Given the description of an element on the screen output the (x, y) to click on. 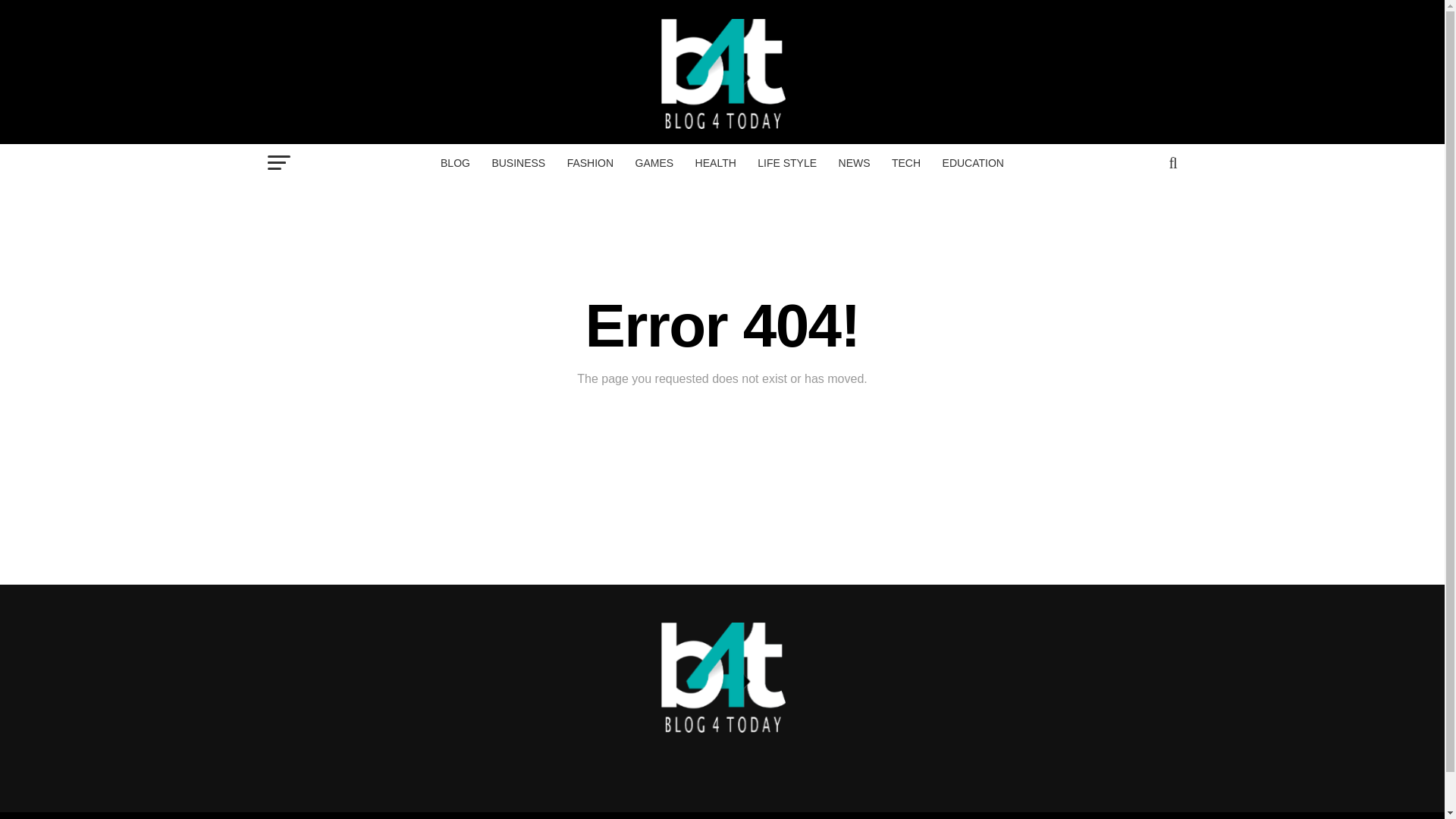
LIFE STYLE (786, 162)
TECH (906, 162)
BUSINESS (517, 162)
EDUCATION (973, 162)
FASHION (590, 162)
HEALTH (715, 162)
BLOG (454, 162)
GAMES (654, 162)
NEWS (854, 162)
